Given the description of an element on the screen output the (x, y) to click on. 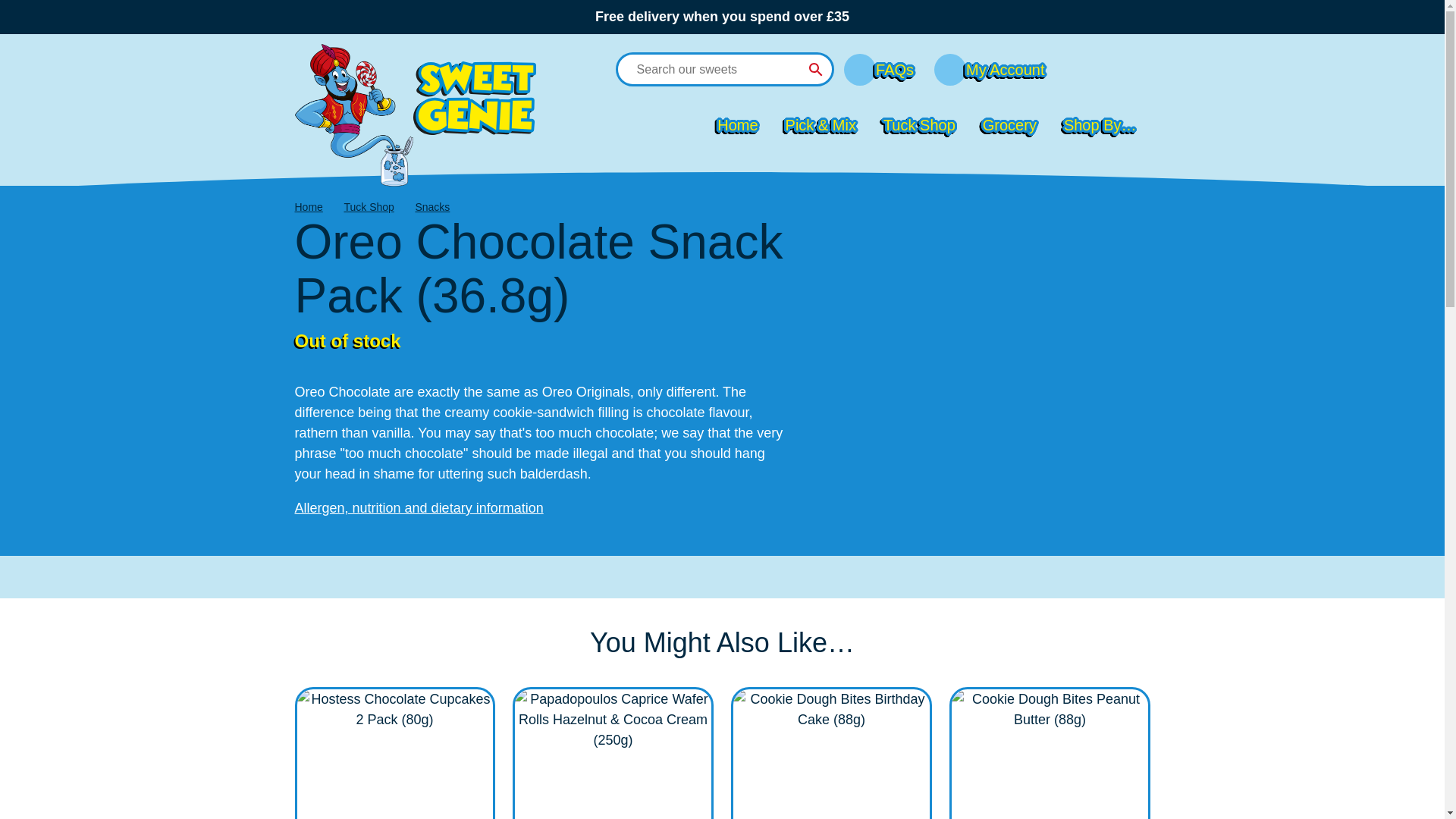
Home (307, 206)
Tuck Shop (919, 124)
My Account (988, 69)
Tuck Shop (368, 206)
Home (737, 124)
My Account (988, 69)
FAQs (879, 69)
0 (1110, 65)
My Account (1004, 69)
FAQs (894, 69)
